Given the description of an element on the screen output the (x, y) to click on. 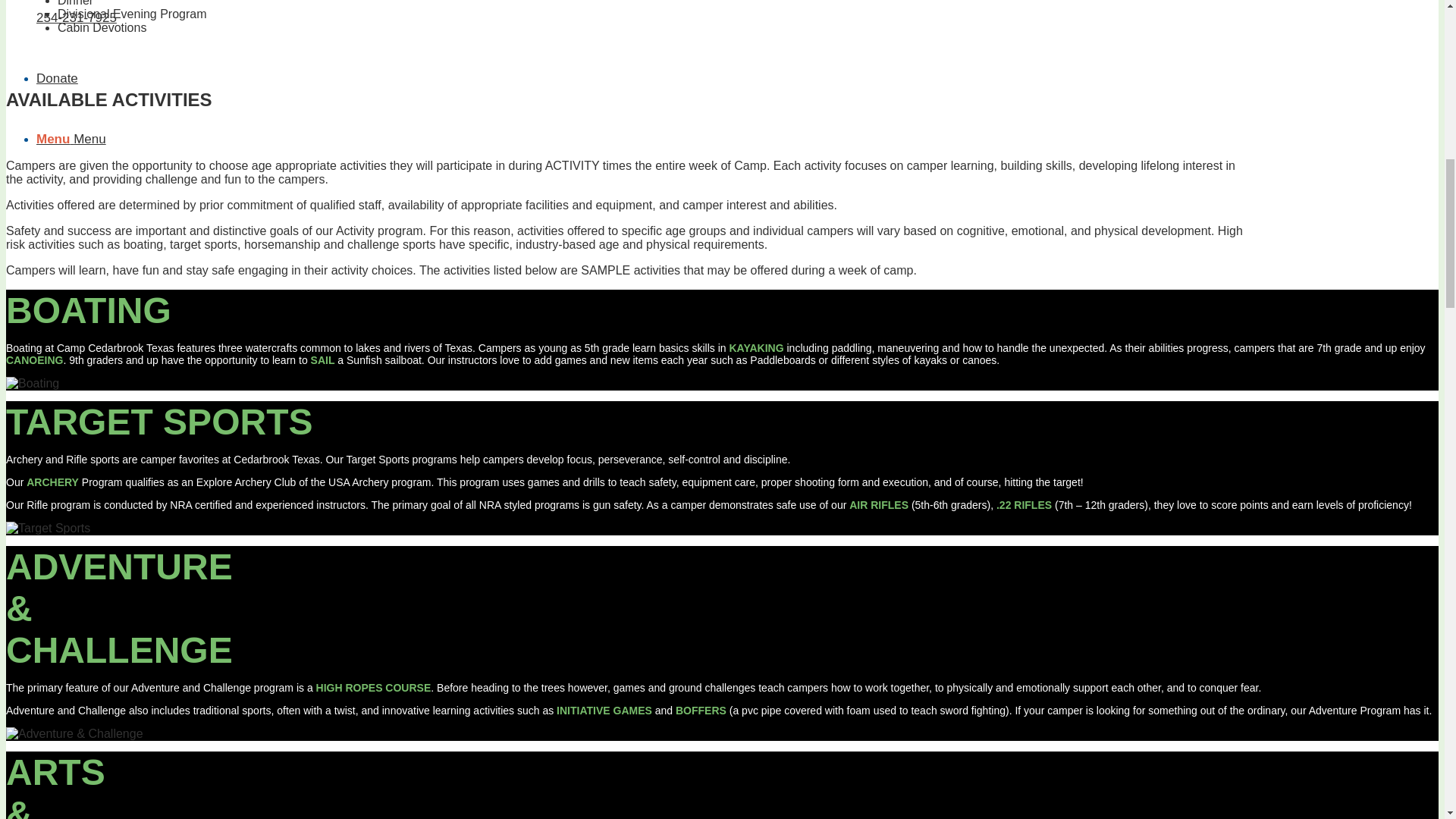
Boating (32, 383)
Menu Menu (71, 138)
Target Sports (47, 528)
Donate (57, 78)
